Given the description of an element on the screen output the (x, y) to click on. 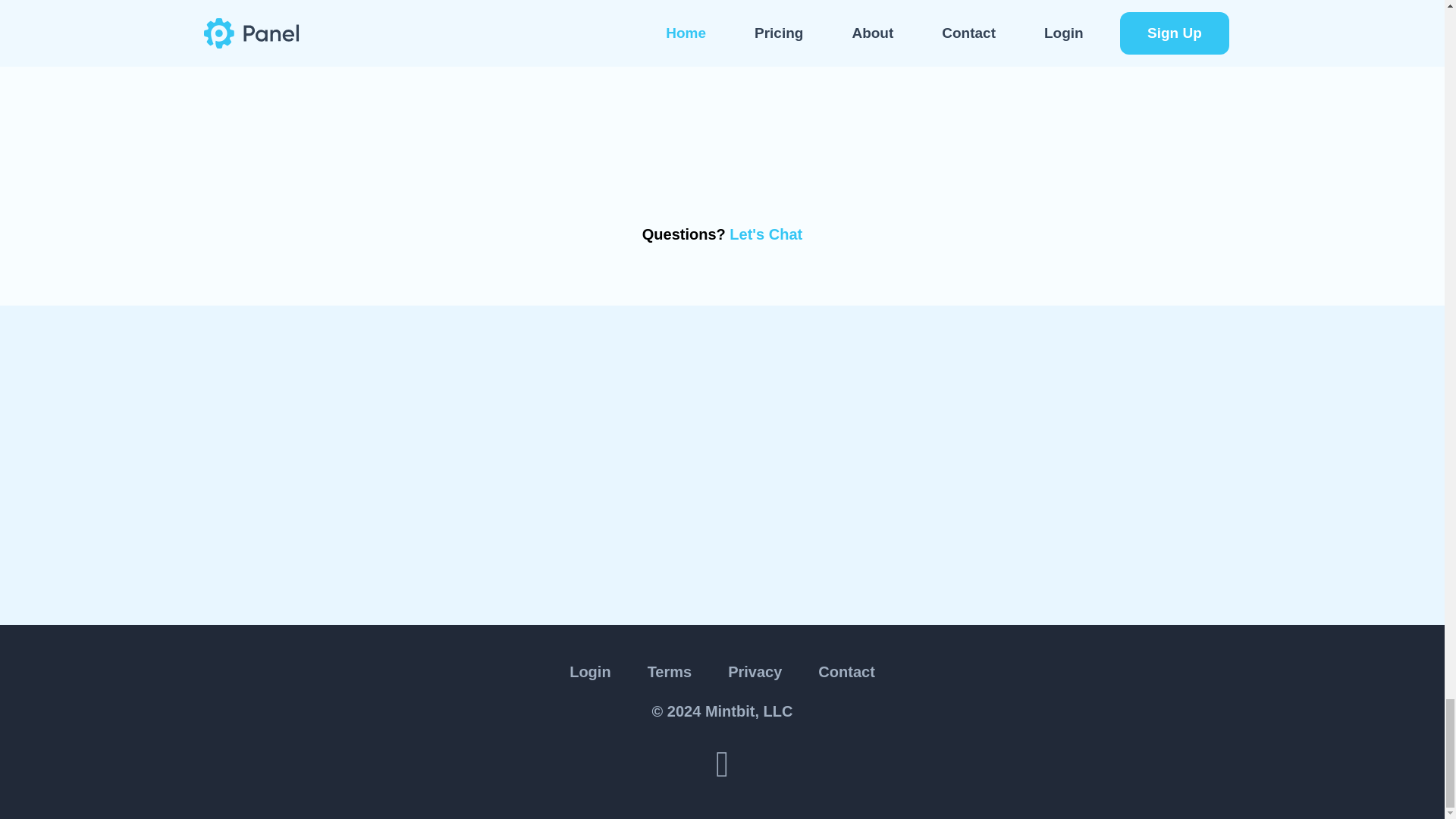
Login (590, 670)
Terms (669, 670)
Privacy (754, 670)
Privacy (754, 670)
Contact (846, 670)
Mintbit, LLC (748, 710)
Terms (669, 670)
Login (590, 670)
Contact (846, 670)
Let's Chat (765, 234)
